Given the description of an element on the screen output the (x, y) to click on. 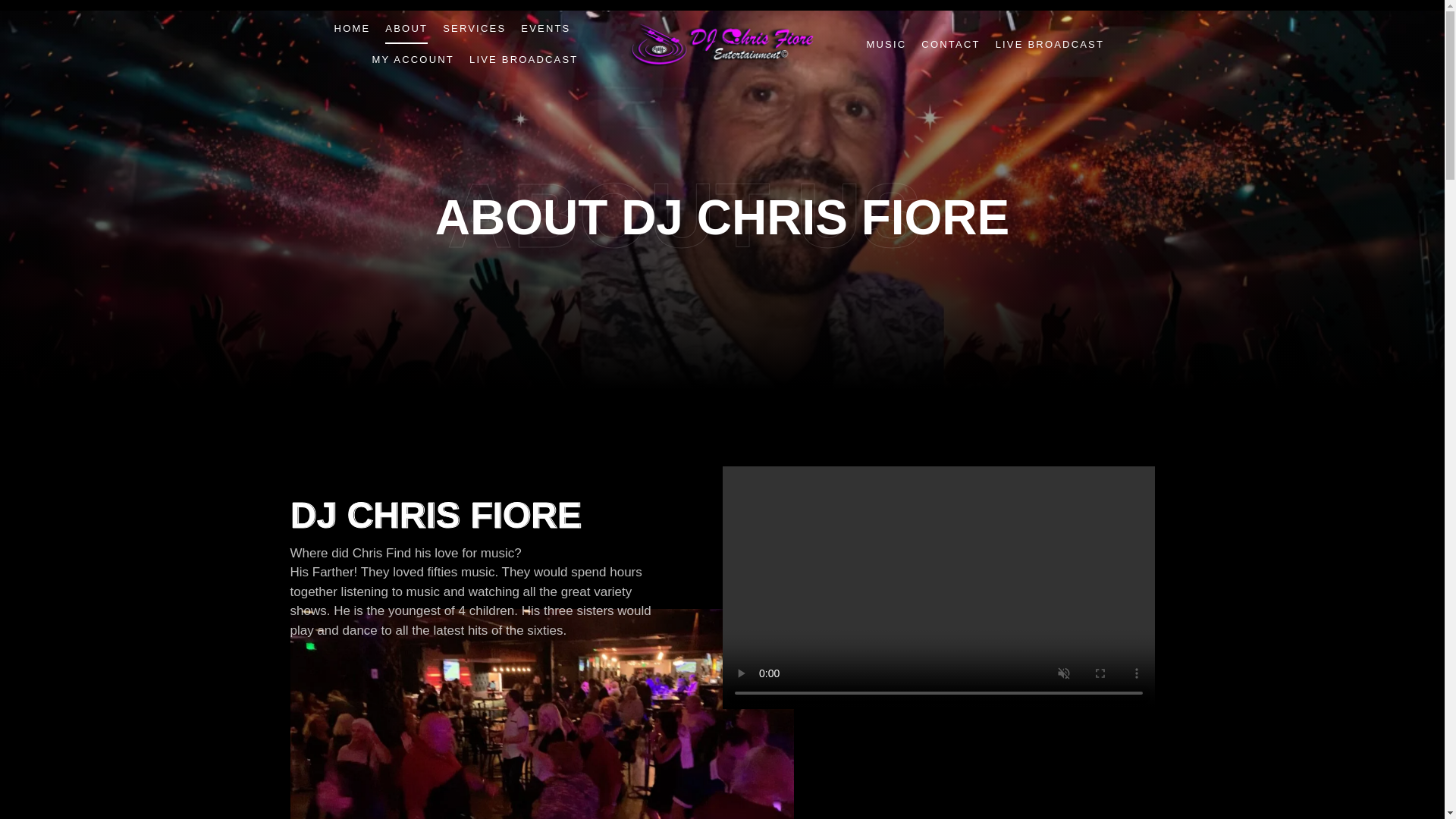
ABOUT (406, 28)
LIVE BROADCAST (523, 59)
MY ACCOUNT (413, 59)
MUSIC (885, 43)
SERVICES (473, 28)
LIVE BROADCAST (1050, 43)
EVENTS (545, 28)
CONTACT (950, 43)
HOME (352, 28)
